Given the description of an element on the screen output the (x, y) to click on. 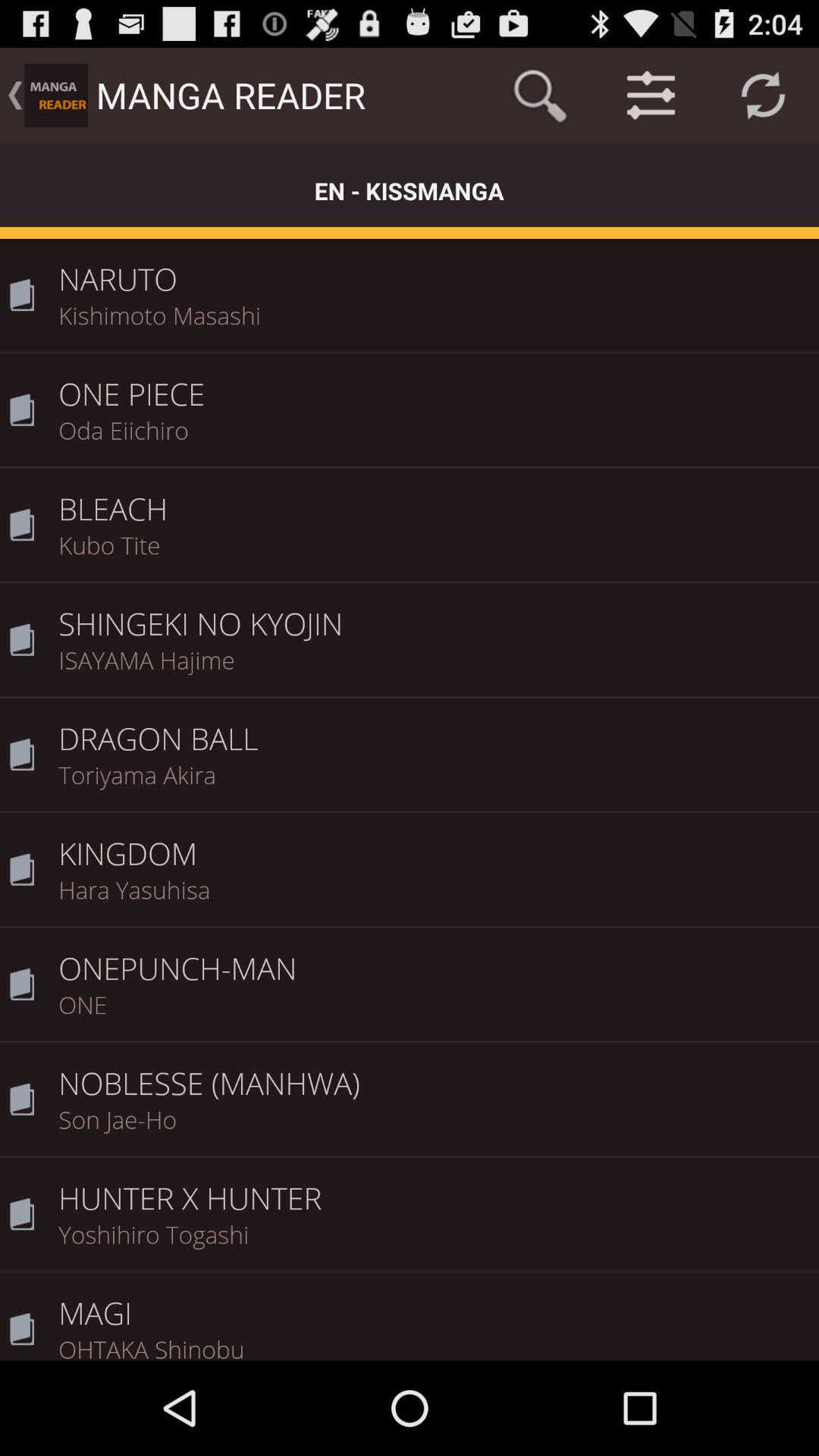
scroll until the noblesse (manhwa) (433, 1073)
